Given the description of an element on the screen output the (x, y) to click on. 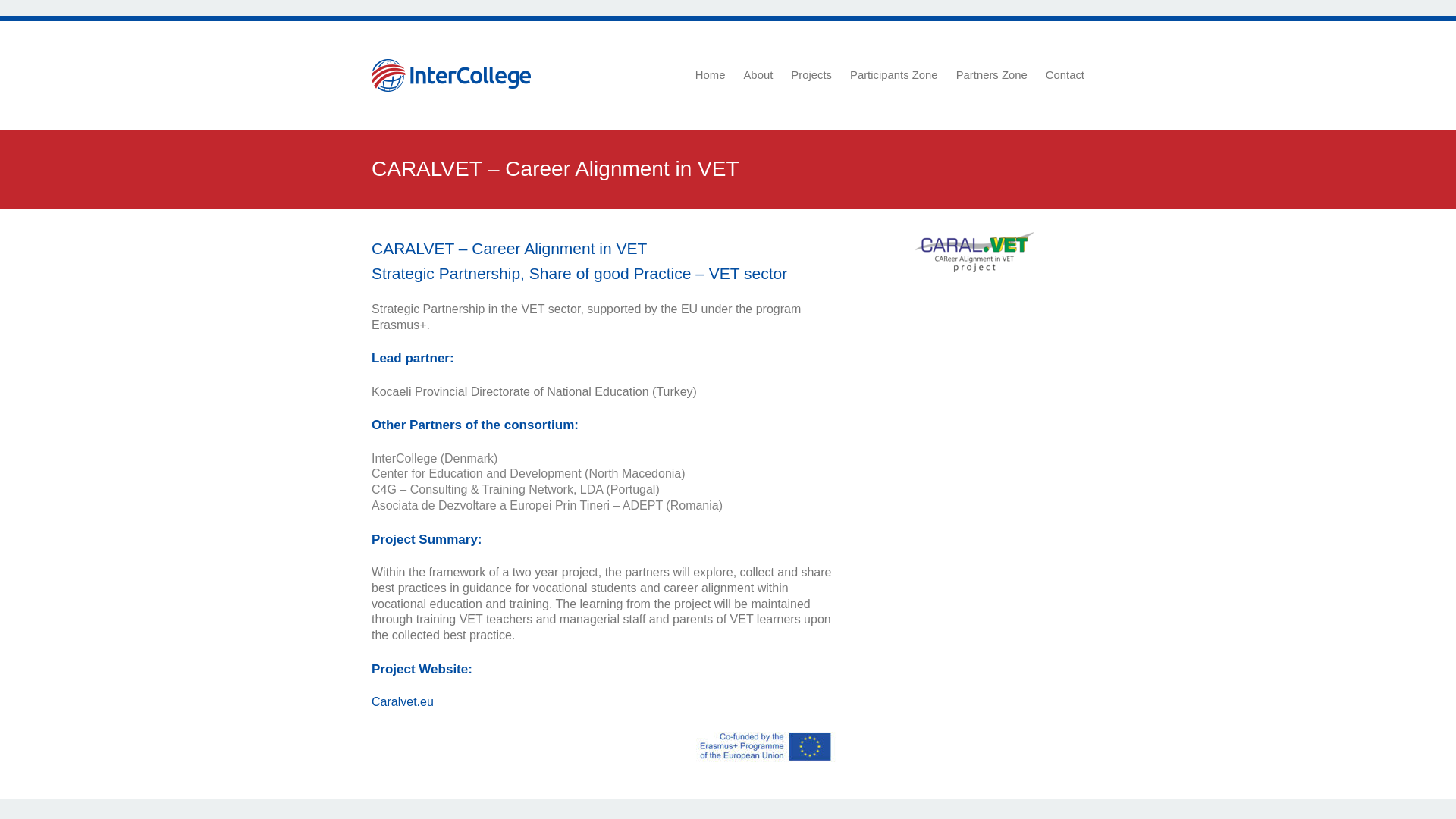
Contact (1064, 75)
Partners Zone (991, 75)
Home (710, 75)
Caralvet.eu (402, 701)
Participants Zone (893, 75)
About (757, 75)
Projects (810, 75)
